Given the description of an element on the screen output the (x, y) to click on. 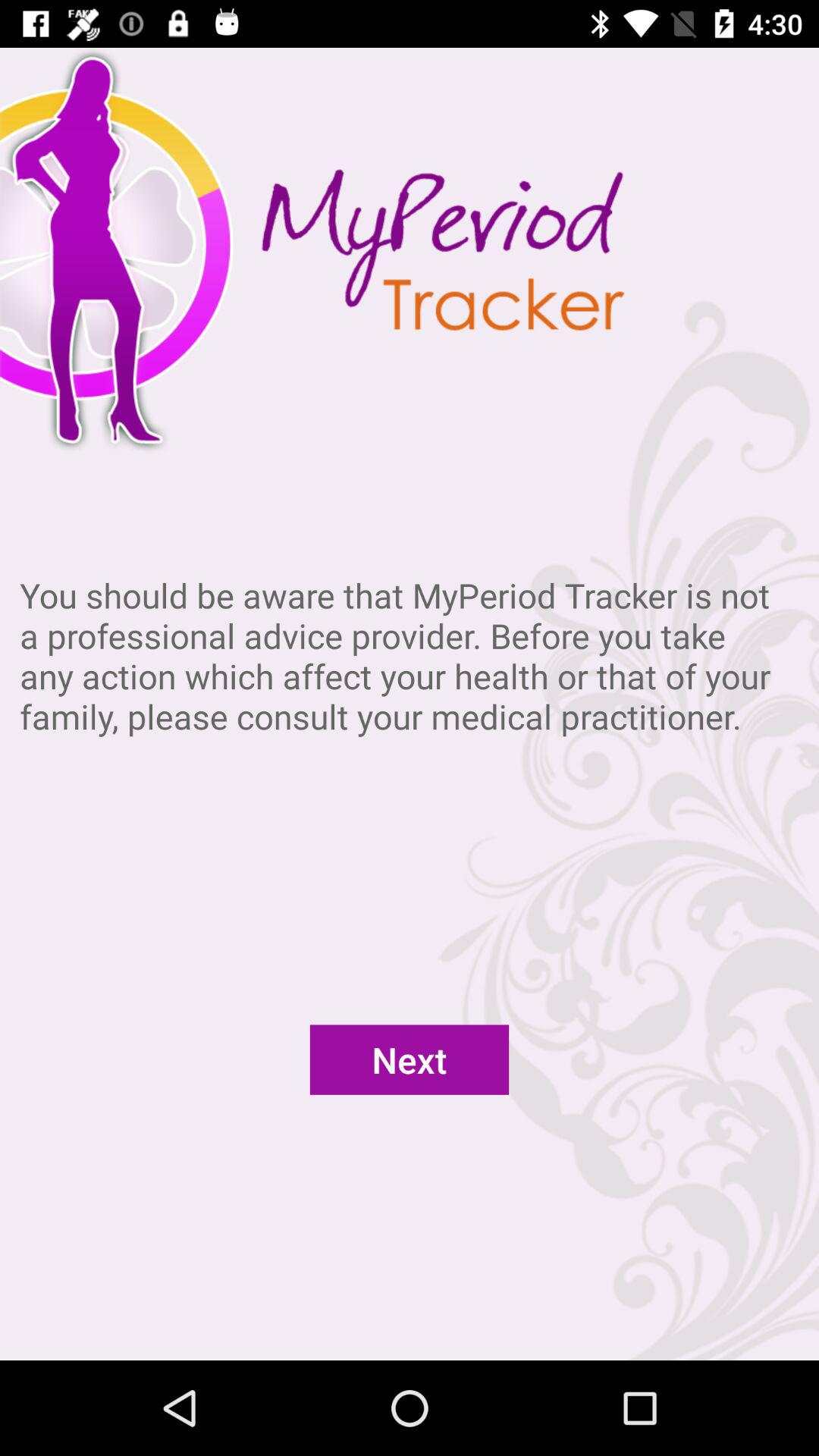
launch the next icon (409, 1059)
